Given the description of an element on the screen output the (x, y) to click on. 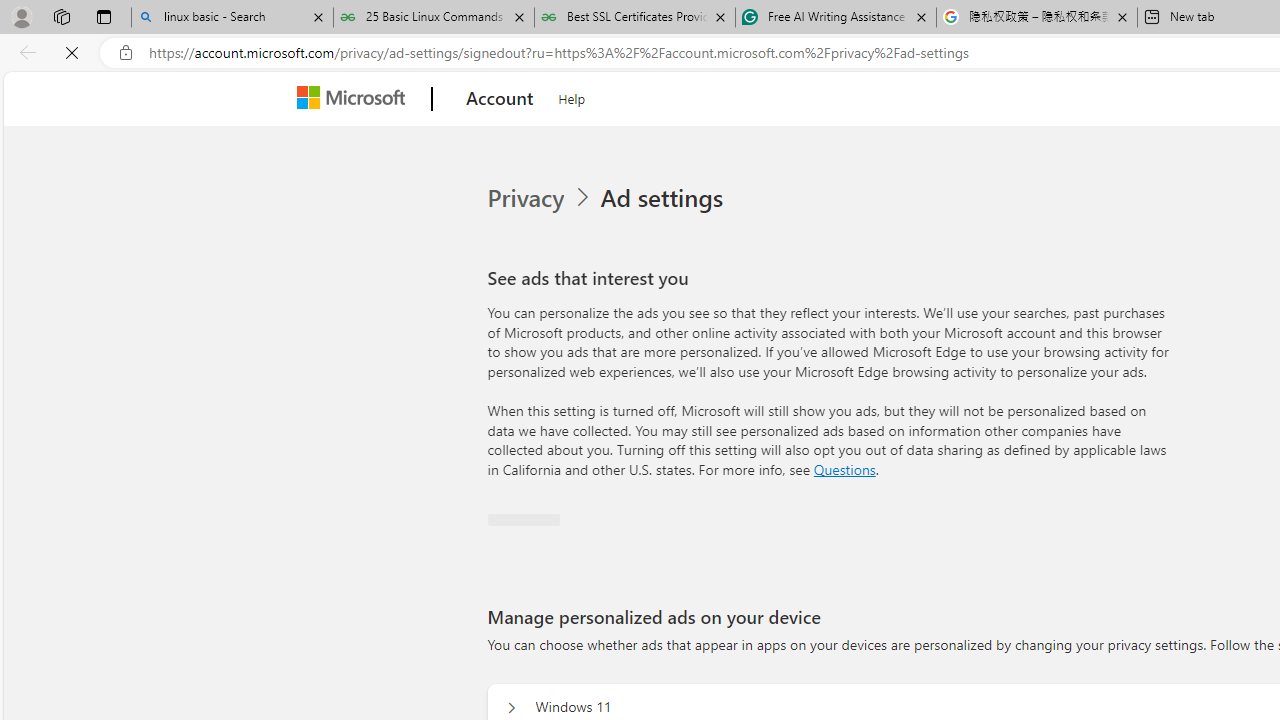
linux basic - Search (231, 17)
